Given the description of an element on the screen output the (x, y) to click on. 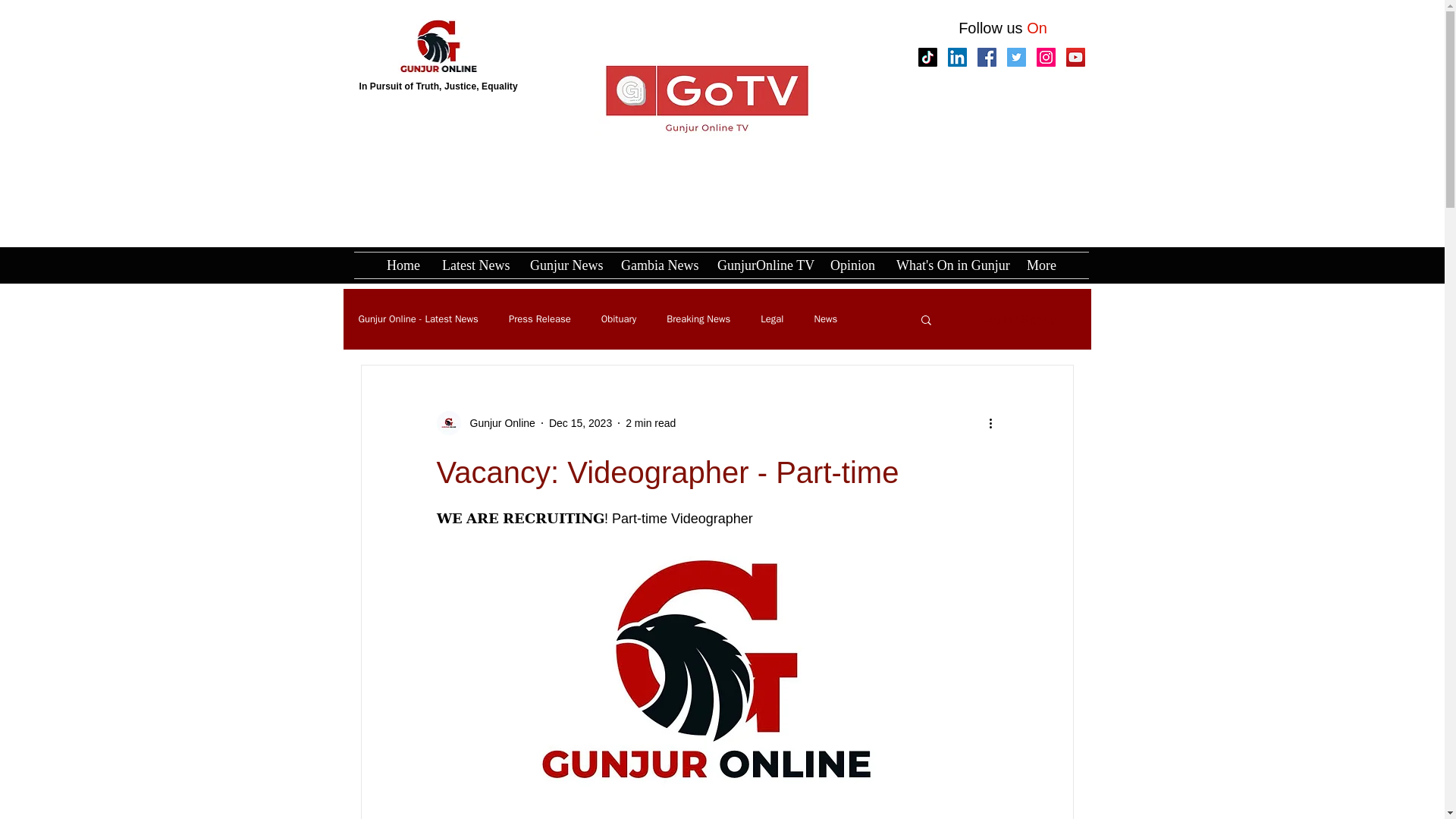
Press Release (539, 318)
Latest News (474, 265)
Gambia News (658, 265)
What's On in Gunjur (949, 265)
Obituary (618, 318)
Gunjur Online Logo (437, 45)
Dec 15, 2023 (579, 422)
Breaking News (698, 318)
Gunjur News (564, 265)
Legal (771, 318)
Opinion (851, 265)
Gunjur Online - Latest News (417, 318)
News (825, 318)
2 min read (650, 422)
Home (402, 265)
